Given the description of an element on the screen output the (x, y) to click on. 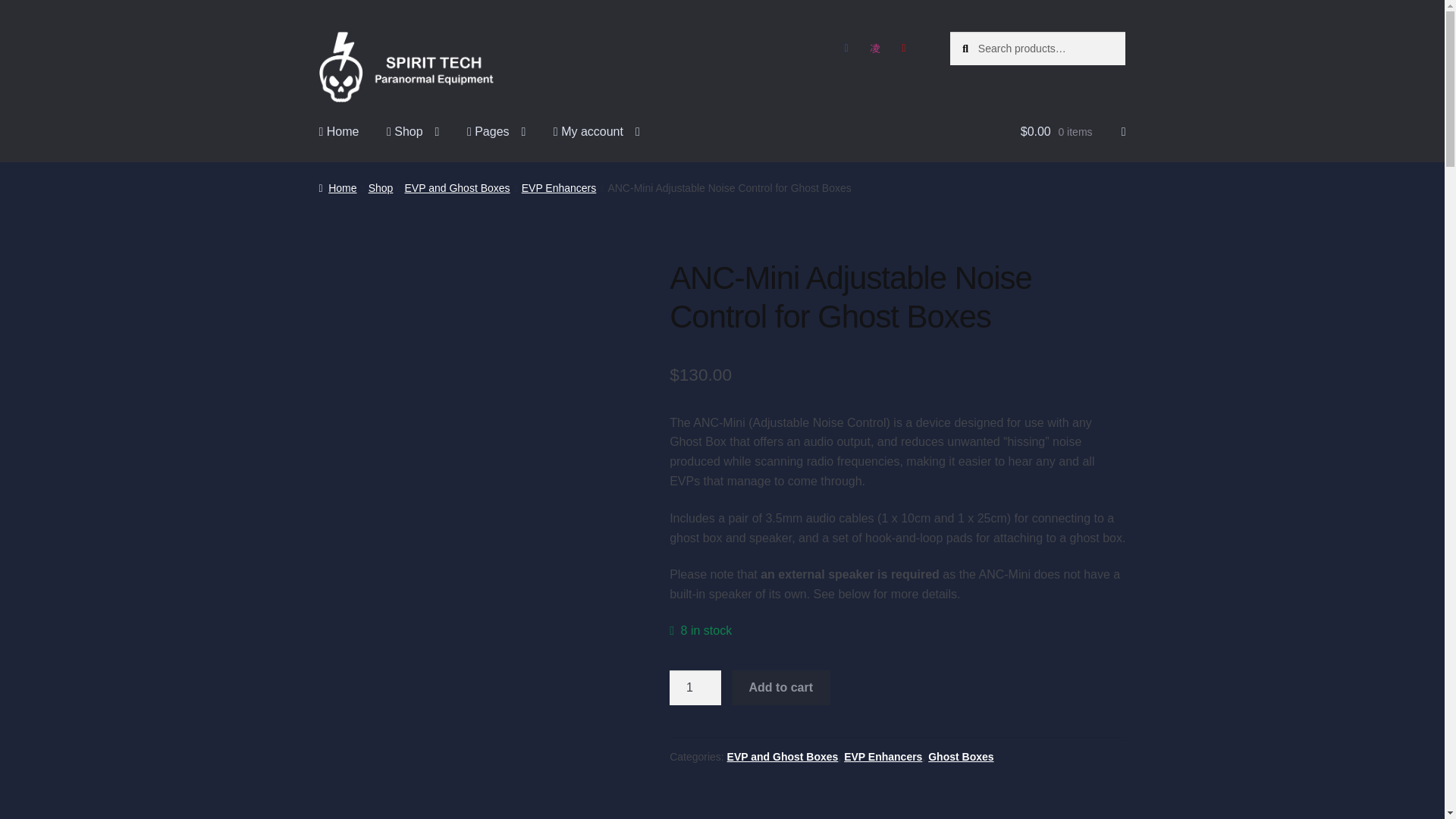
 Home (339, 131)
1 (694, 687)
View your shopping cart (1072, 131)
 Shop (412, 131)
